Given the description of an element on the screen output the (x, y) to click on. 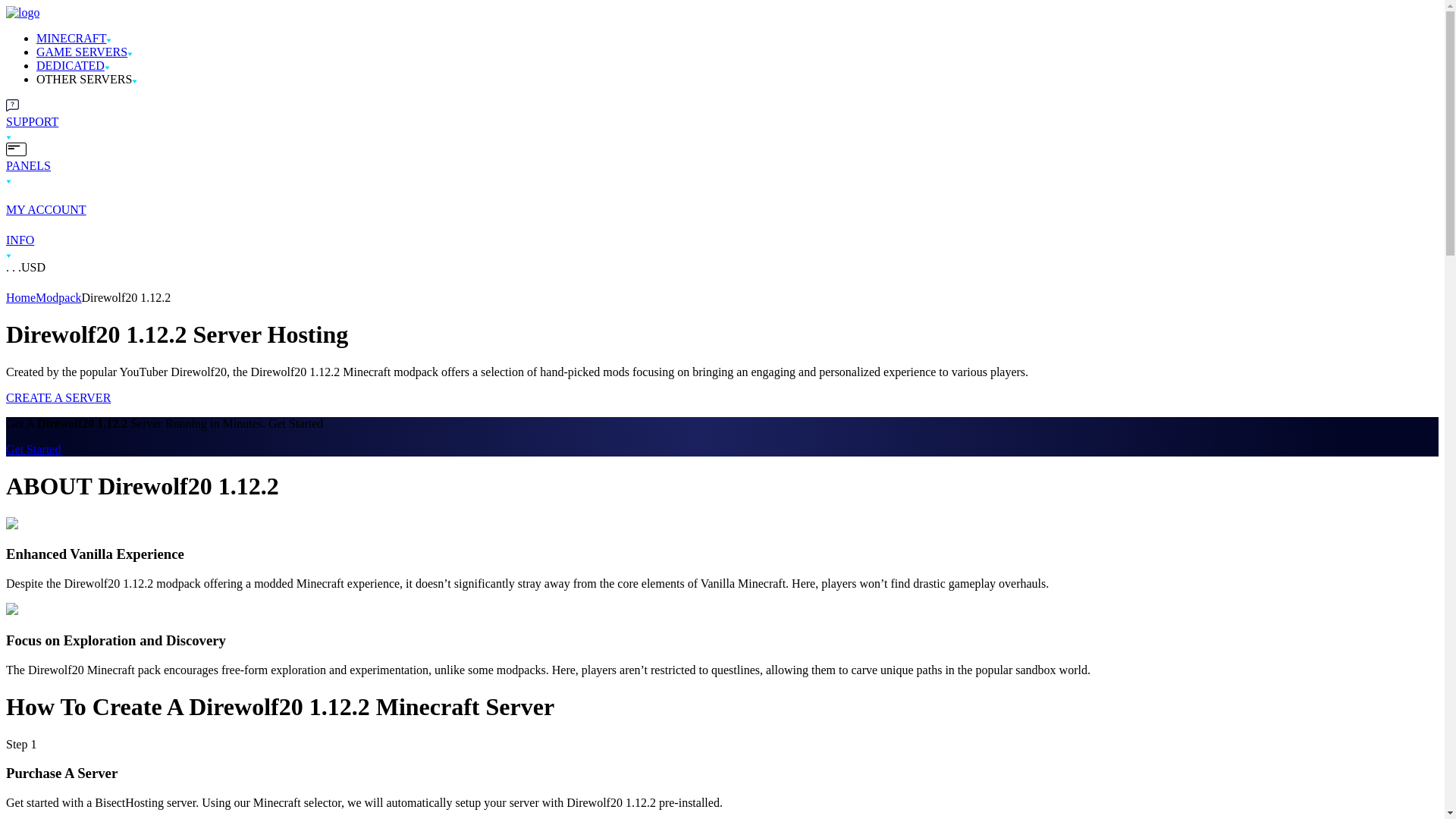
Get Started (33, 449)
Home (19, 297)
GAME SERVERS (82, 51)
MINECRAFT (71, 38)
CREATE A SERVER (57, 397)
Modpack (57, 297)
DEDICATED (70, 65)
